Given the description of an element on the screen output the (x, y) to click on. 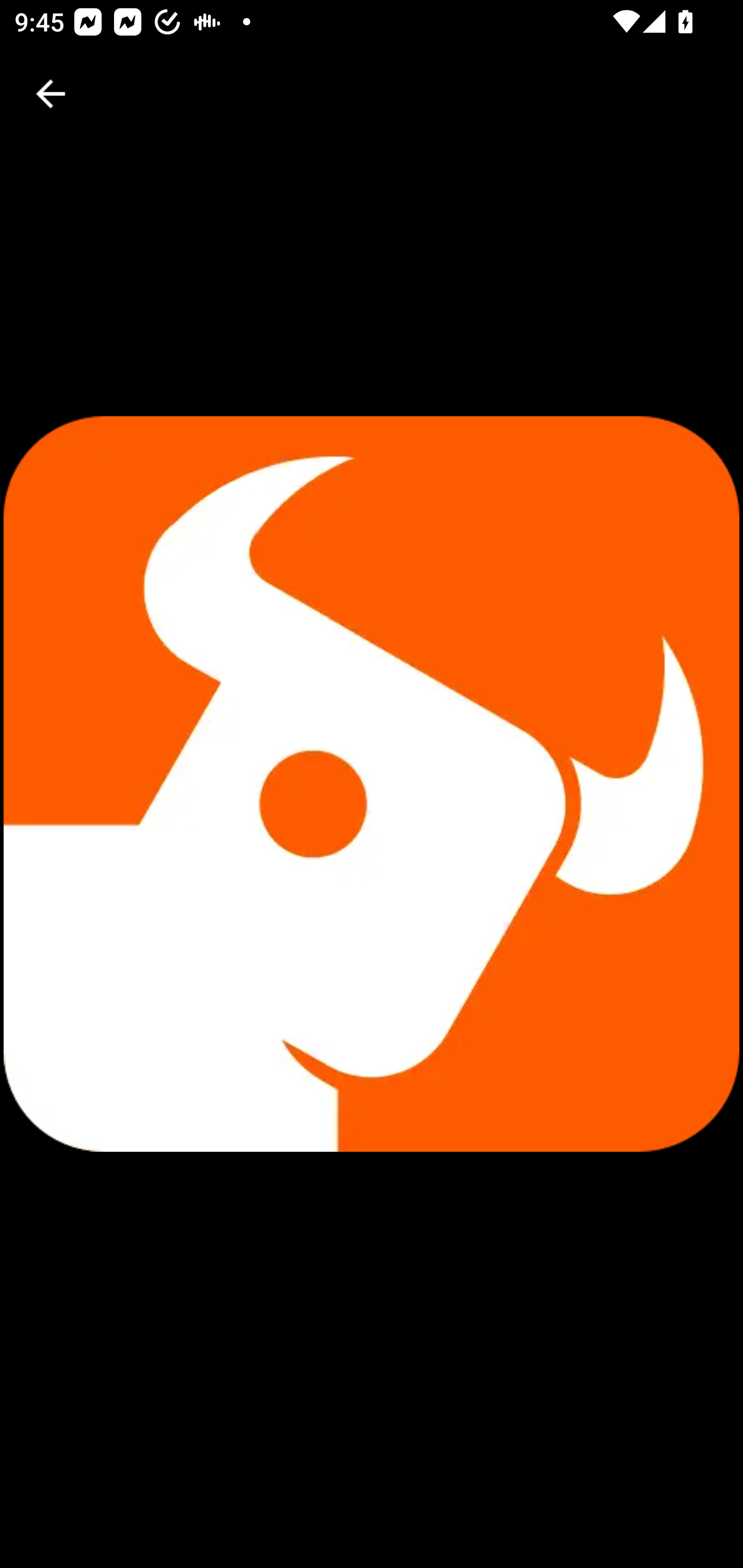
Back (50, 93)
